Given the description of an element on the screen output the (x, y) to click on. 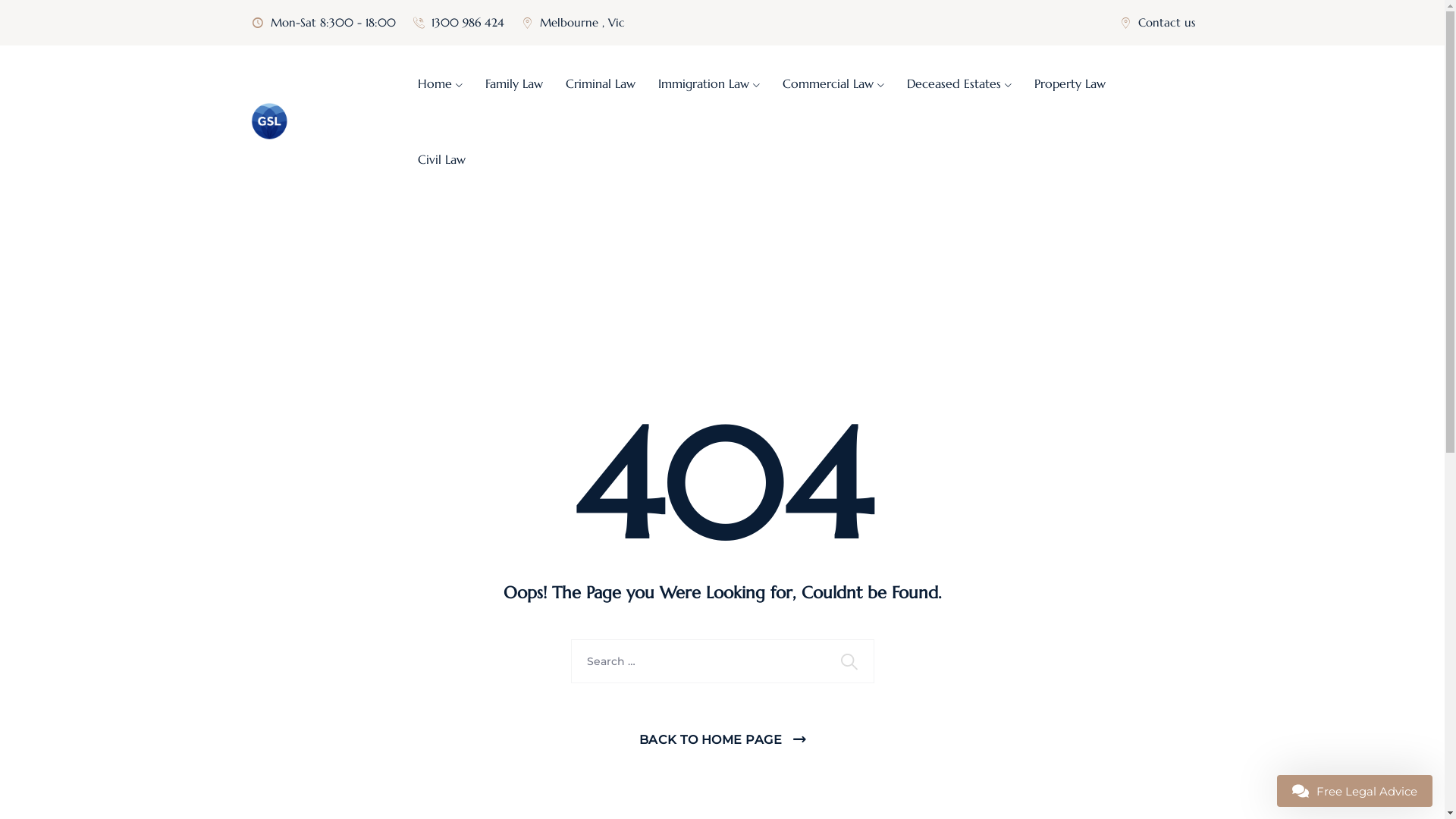
Civil Law Element type: text (441, 159)
Home Element type: text (439, 83)
Family Law Element type: text (513, 83)
Criminal Law Element type: text (600, 83)
Deceased Estates Element type: text (958, 83)
Global Strategic Law Element type: hover (269, 121)
Property Law Element type: text (1069, 83)
Commercial Law Element type: text (833, 83)
Immigration Law Element type: text (708, 83)
BACK TO HOME PAGE Element type: text (721, 739)
